Given the description of an element on the screen output the (x, y) to click on. 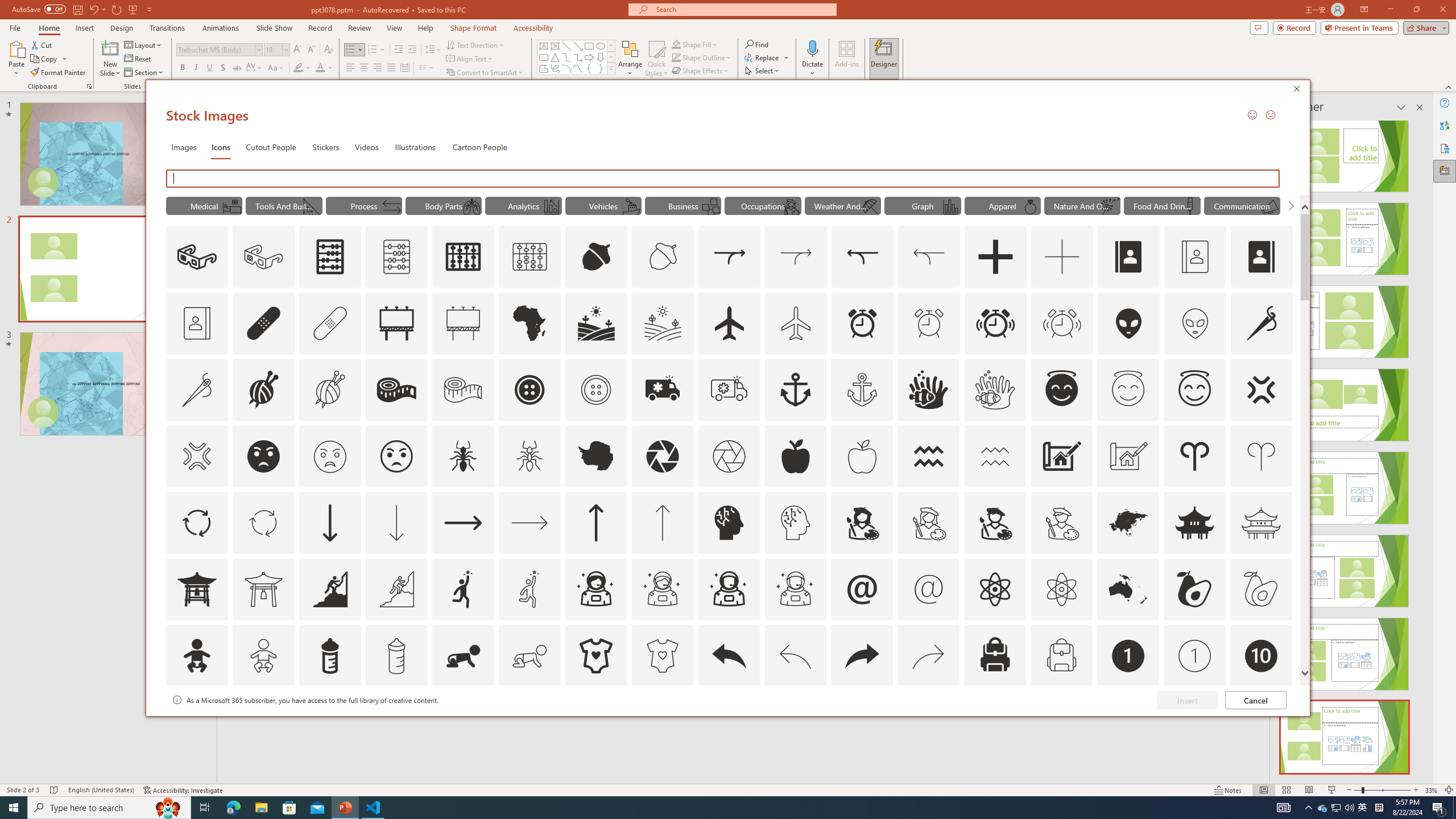
AutomationID: Icons_AnemoneAndClownfish (928, 389)
AutomationID: Icons_ArrowDown_M (395, 522)
AutomationID: Icons_ArrowRight (462, 522)
AutomationID: Icons_Back_RTL_M (928, 655)
AutomationID: Icons_AngryFace_M (329, 455)
AutomationID: Icons_Abacus_M (397, 256)
"Tools And Building" Icons. (283, 205)
AutomationID: Icons_3dGlasses (197, 256)
